Given the description of an element on the screen output the (x, y) to click on. 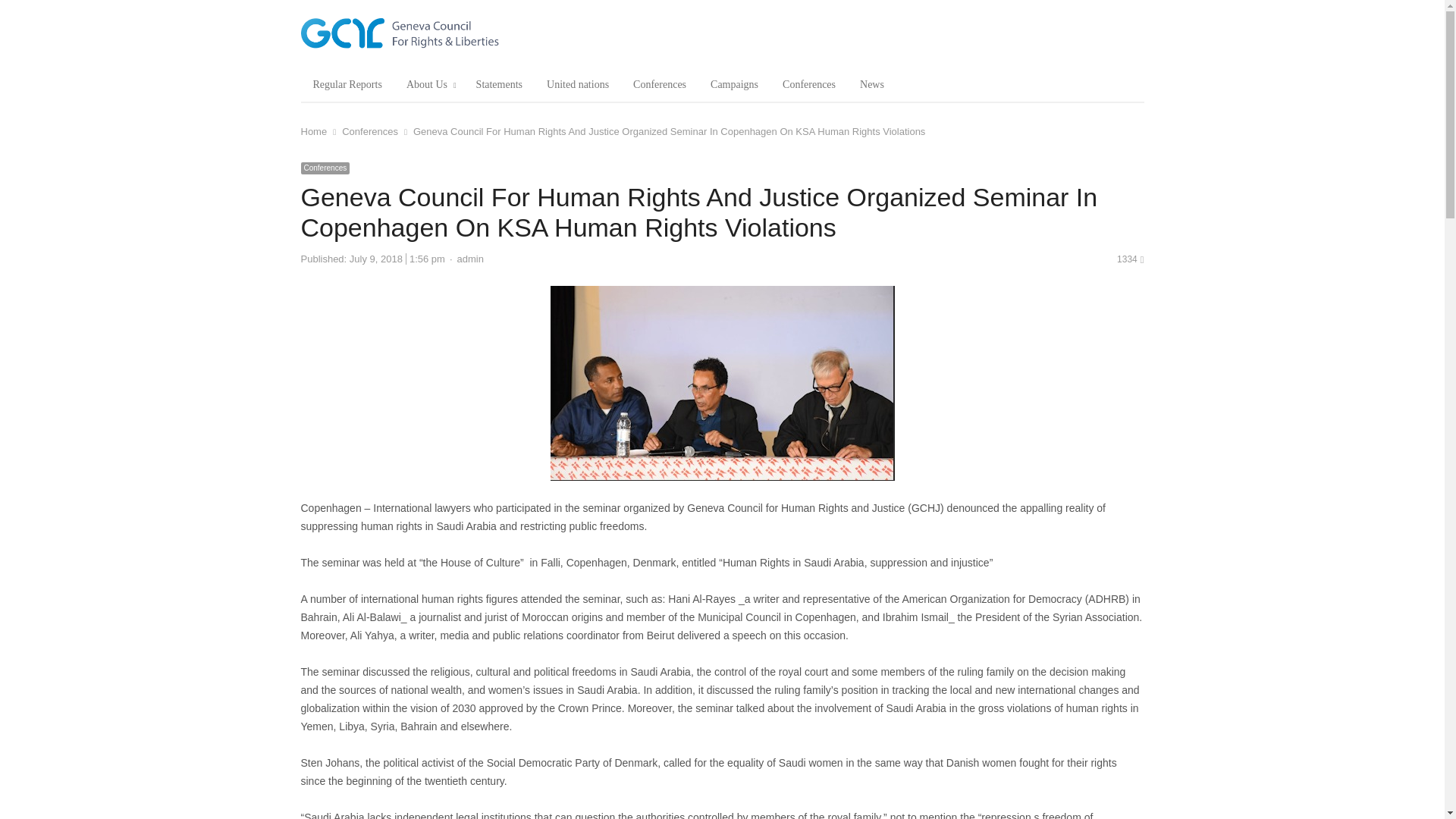
About Us (429, 84)
admin (470, 258)
Conferences (369, 131)
Regular Reports (346, 84)
Conferences (324, 168)
Conferences (659, 84)
Campaigns (734, 84)
News (871, 84)
Statements (499, 84)
Conferences (808, 84)
Home (312, 131)
United nations (577, 84)
